Given the description of an element on the screen output the (x, y) to click on. 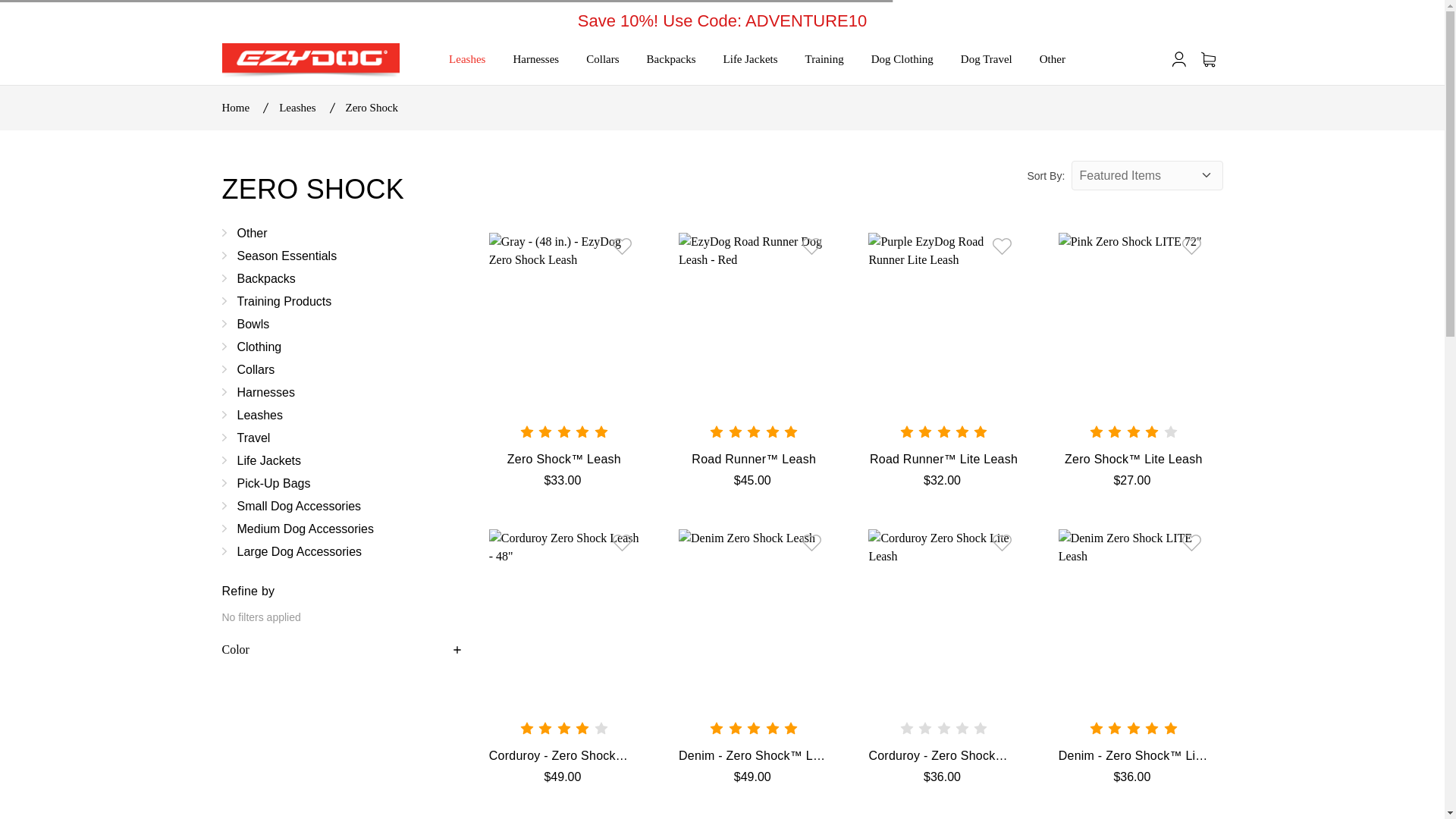
Dog Backpacks (342, 277)
Backpacks (671, 59)
Large Dog Accessories (342, 550)
Season Essentials (342, 255)
Dog Clothing (902, 59)
Dog Travel (986, 59)
EzyDog (309, 60)
Training Products (342, 300)
Dog Leashes (342, 414)
Add to My Wish List (811, 246)
